Given the description of an element on the screen output the (x, y) to click on. 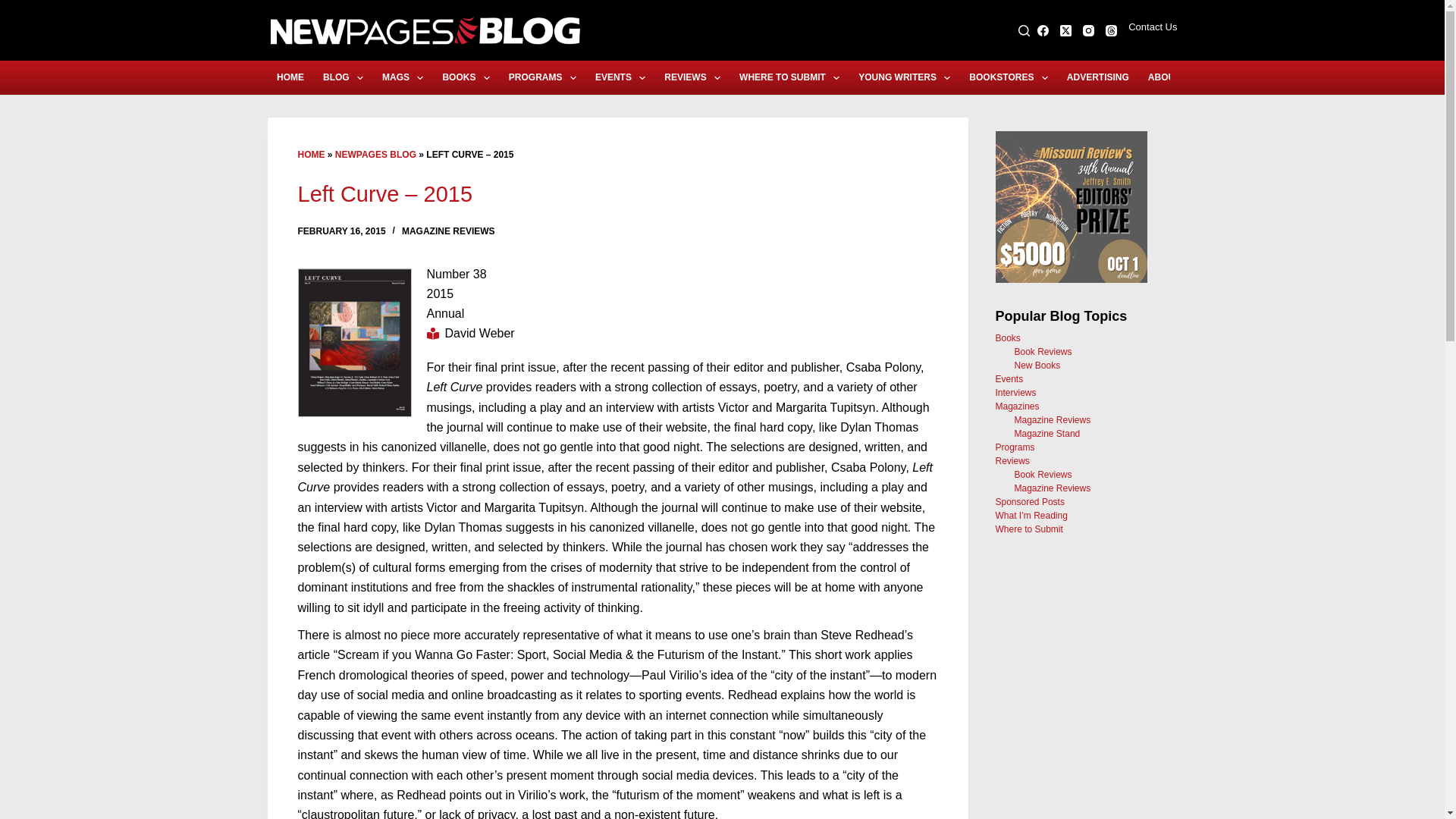
Skip to content (15, 7)
